Given the description of an element on the screen output the (x, y) to click on. 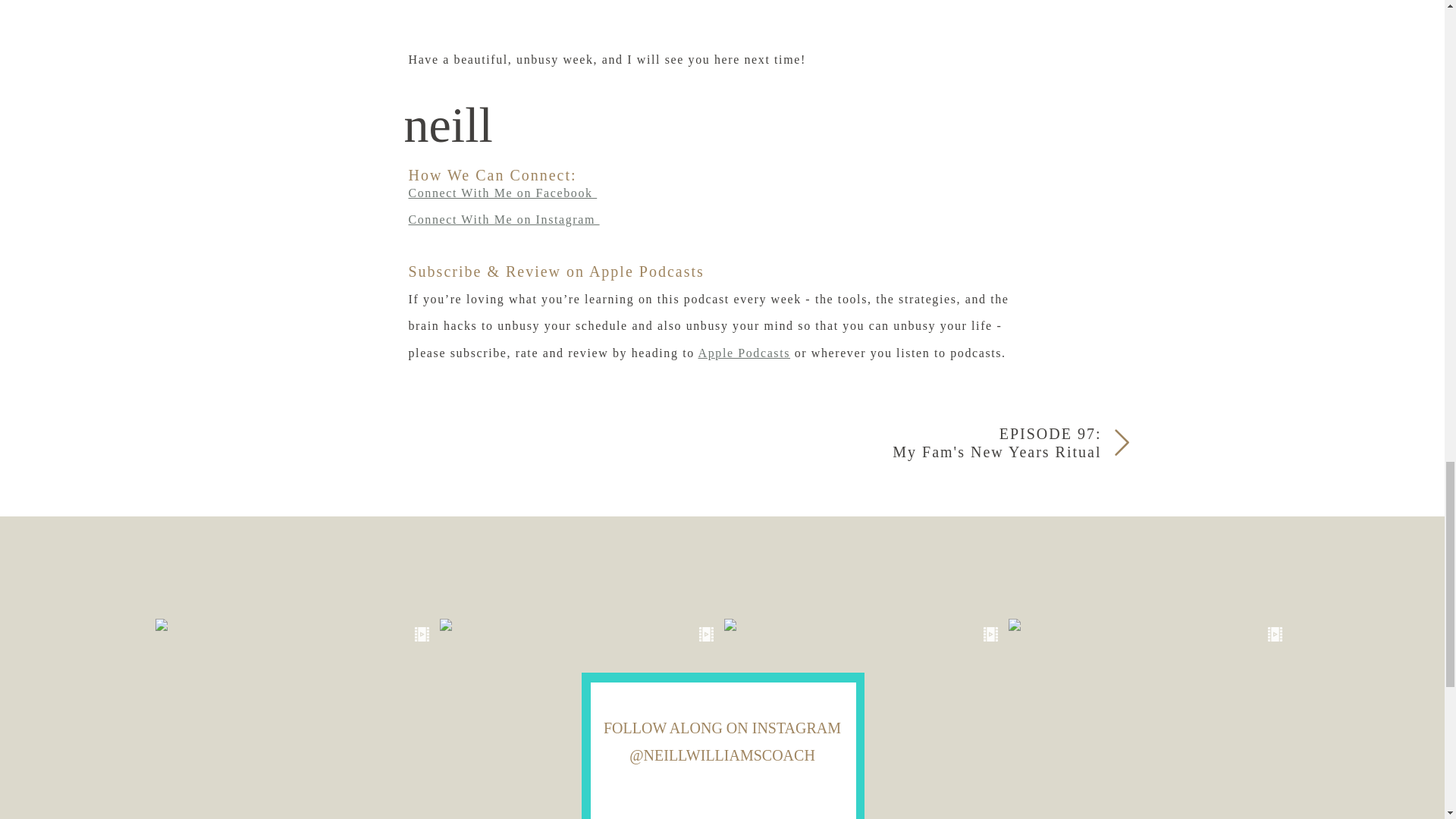
Connect With Me on Facebook  (501, 192)
How We Can Connect:  (544, 173)
Apple Podcasts (744, 352)
Connect With Me on Instagram  (502, 219)
